Given the description of an element on the screen output the (x, y) to click on. 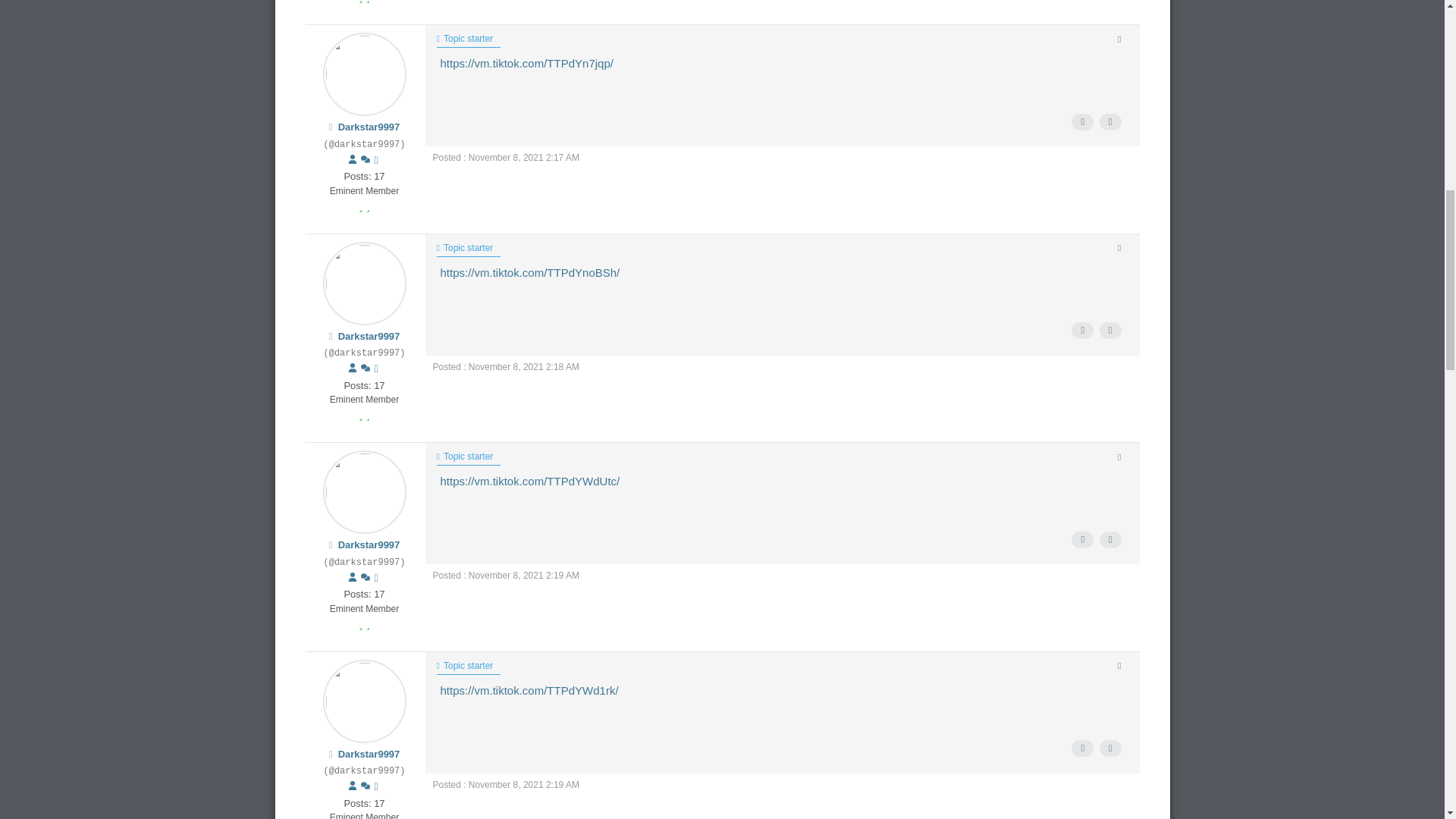
Darkstar9997 (368, 754)
Darkstar9997 (368, 126)
Darkstar9997 (368, 336)
Darkstar9997 (368, 544)
